Given the description of an element on the screen output the (x, y) to click on. 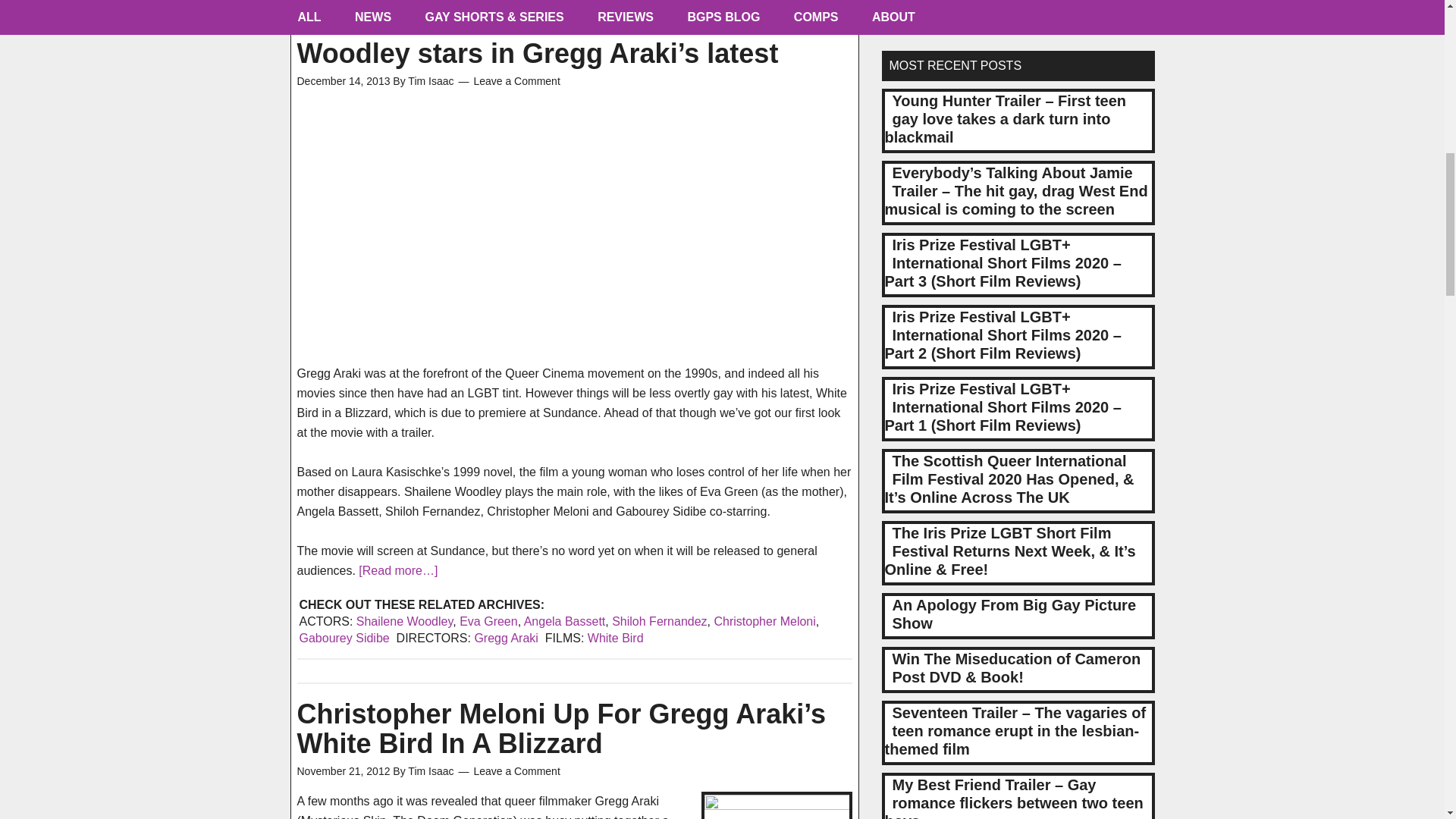
Gabourey Sidibe (343, 637)
Gregg Araki (505, 637)
White Bird (615, 637)
Leave a Comment (516, 80)
Tim Isaac (429, 770)
Angela Bassett (564, 621)
Christopher Meloni (764, 621)
Eva Green (488, 621)
christopher-meloni (775, 805)
Shailene Woodley (404, 621)
Shiloh Fernandez (658, 621)
Leave a Comment (516, 770)
Tim Isaac (429, 80)
